Given the description of an element on the screen output the (x, y) to click on. 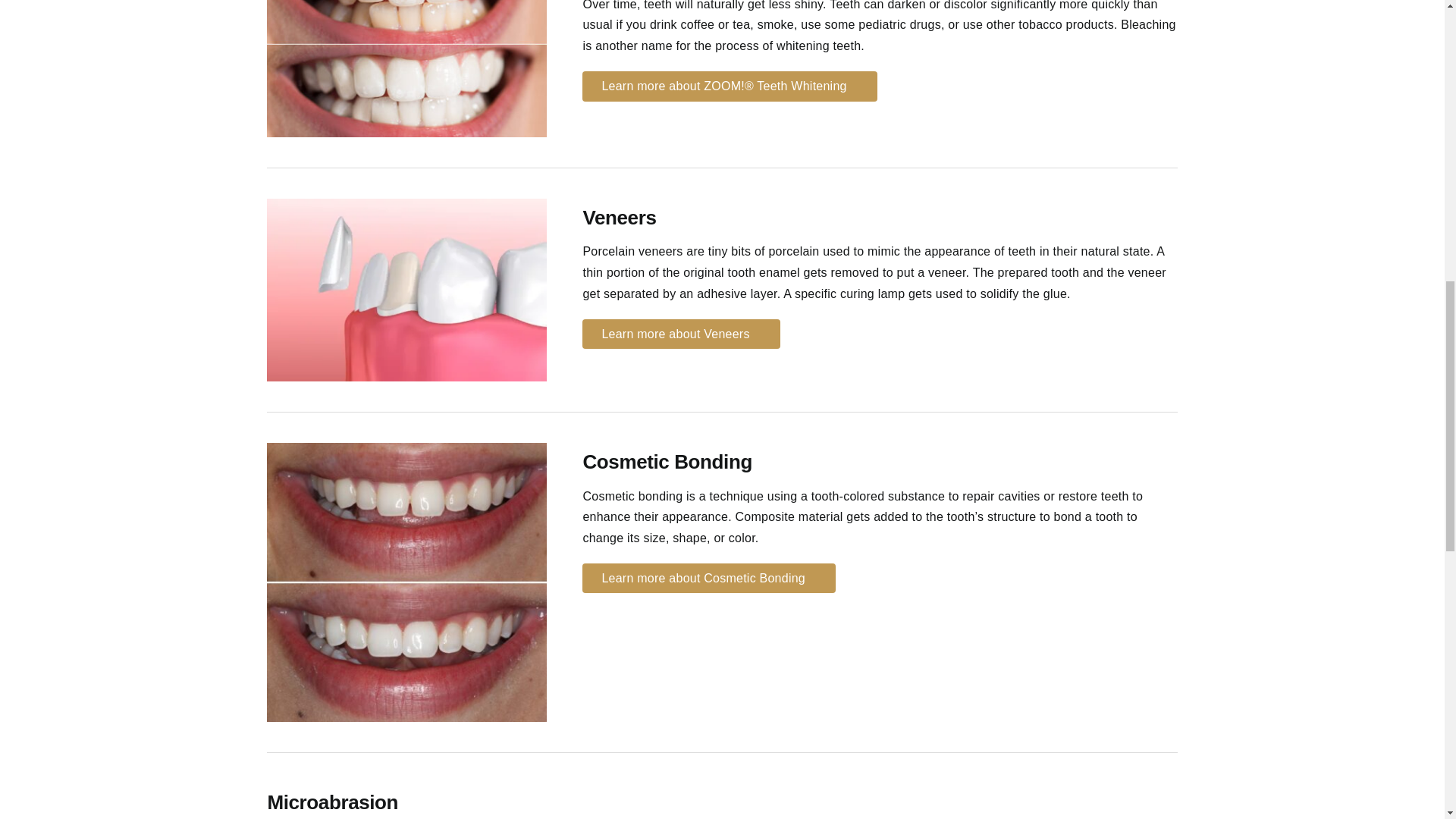
dental-veneers1.jpgw3 (406, 290)
What-is-Zoom-Teeth-Whitening (406, 69)
bonding (406, 582)
